Given the description of an element on the screen output the (x, y) to click on. 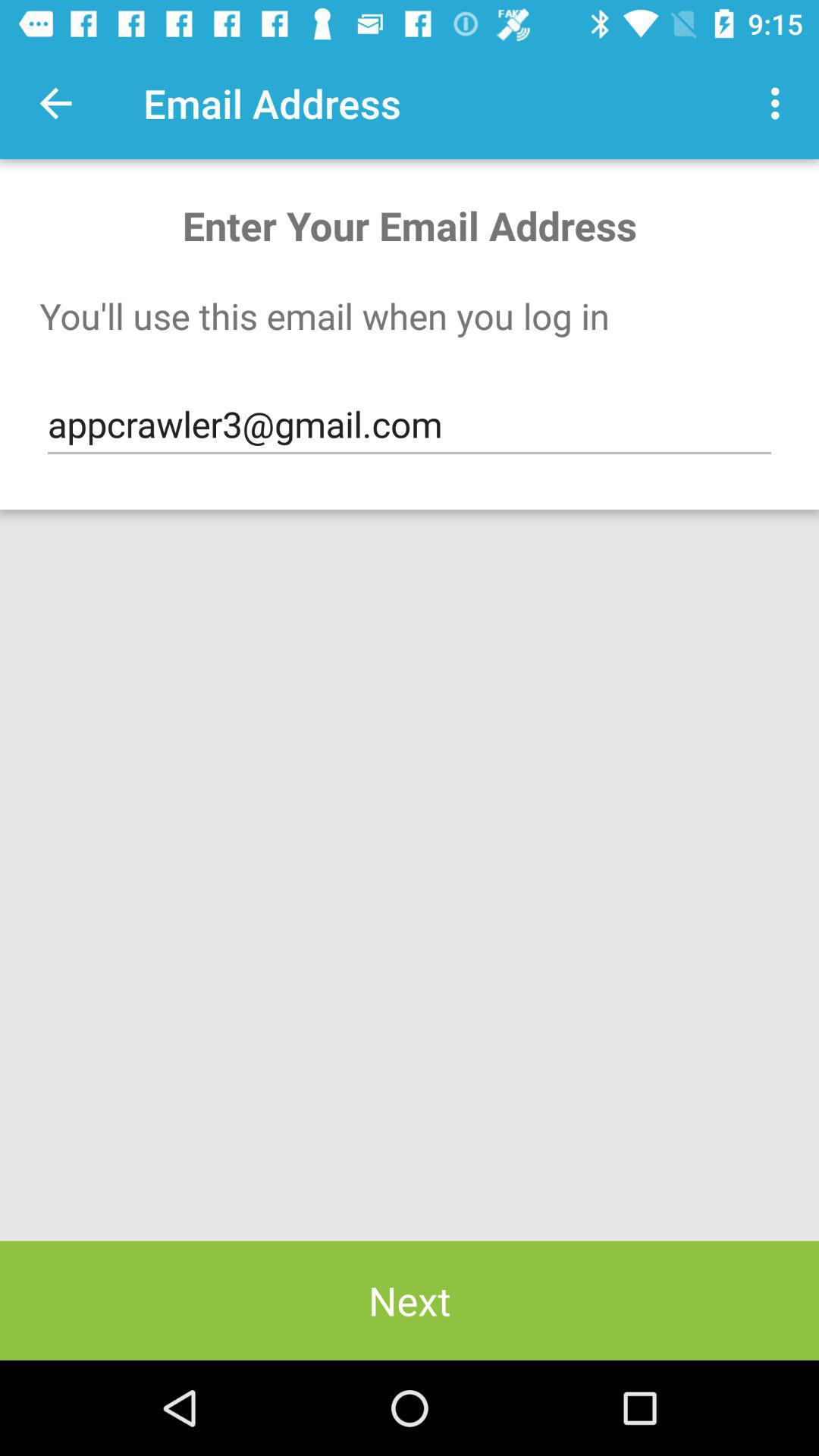
tap item above next item (409, 424)
